Given the description of an element on the screen output the (x, y) to click on. 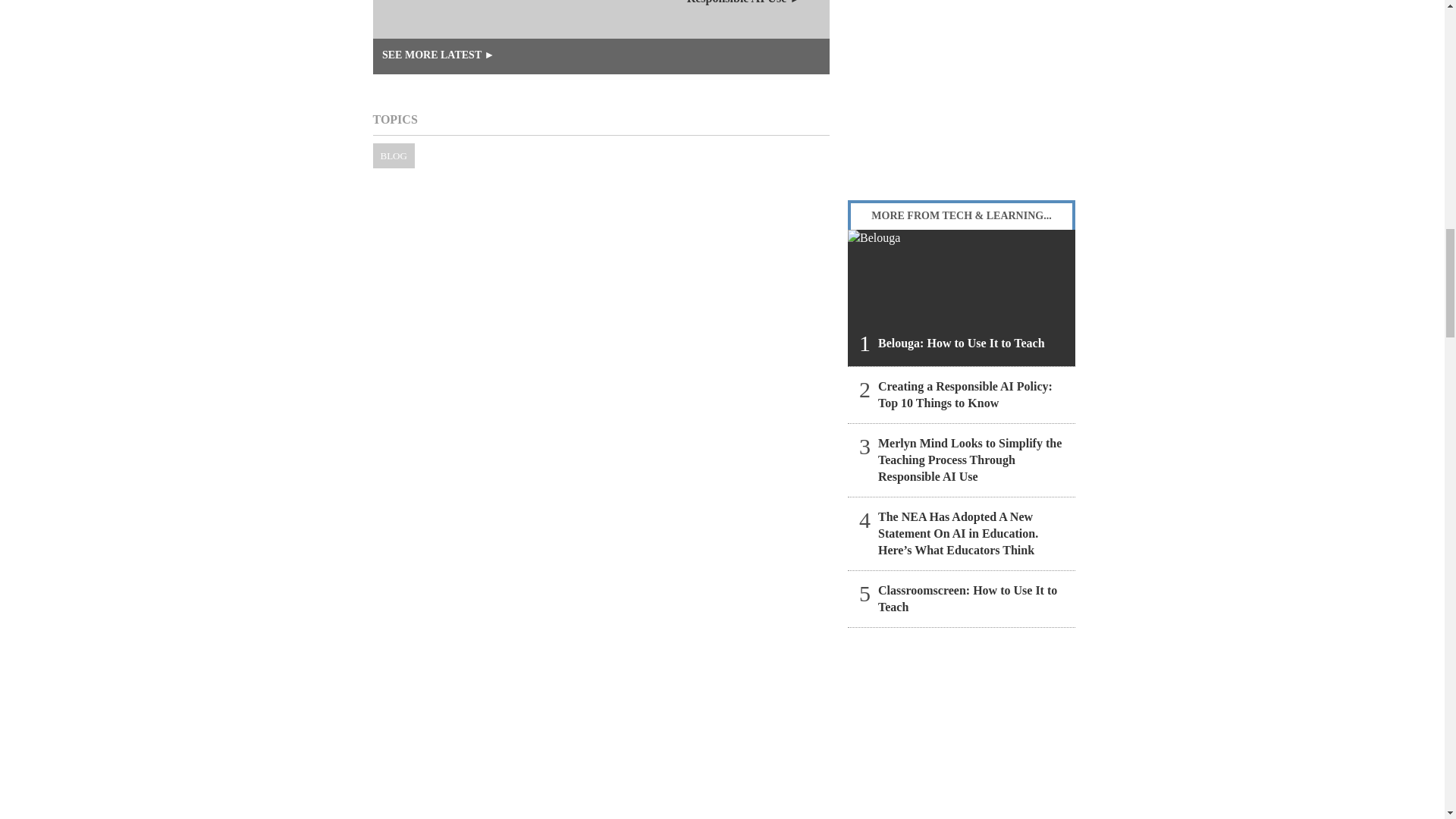
Belouga: How to Use It to Teach (961, 298)
